Given the description of an element on the screen output the (x, y) to click on. 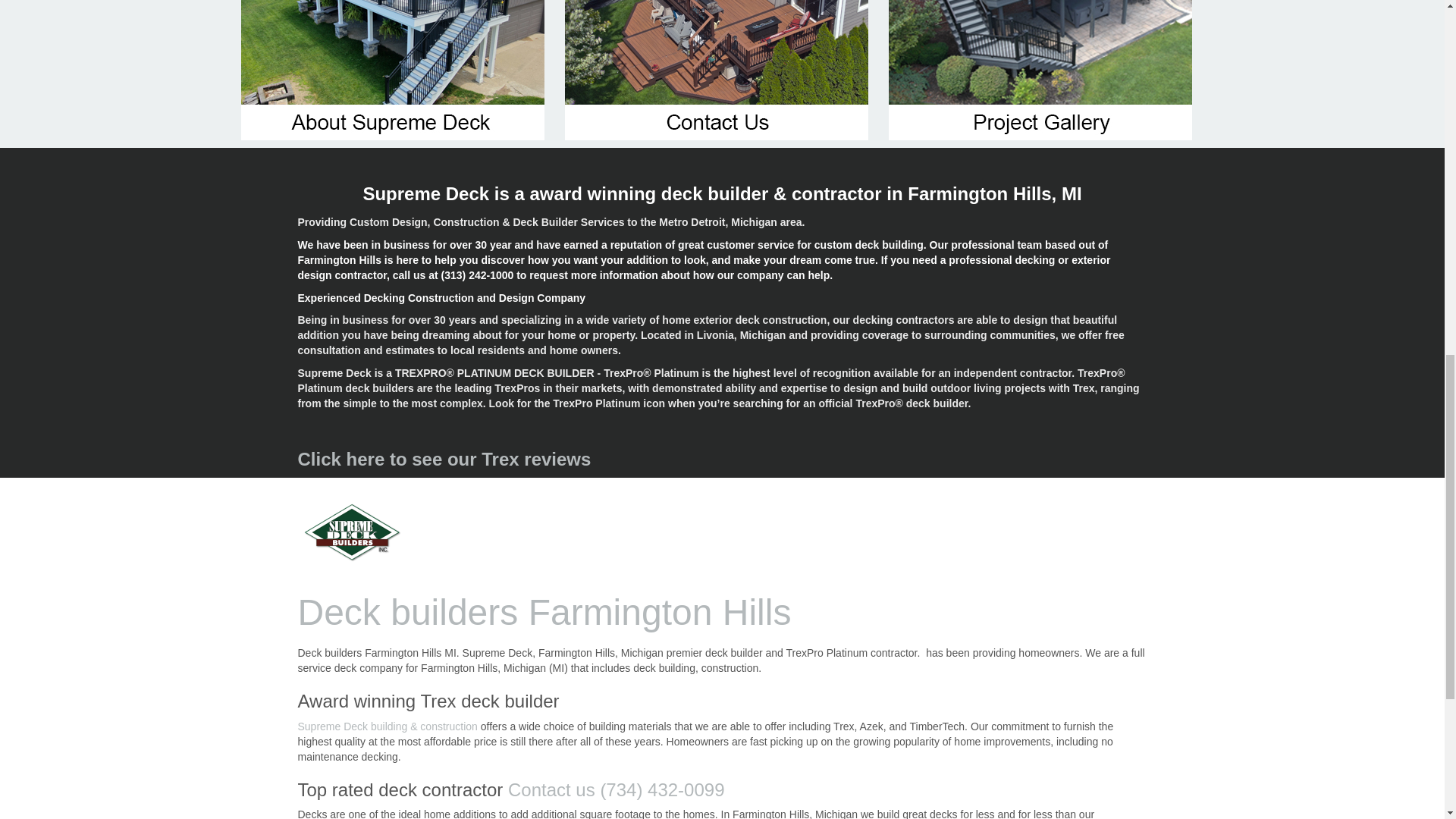
Deck builders Farmington Hills (351, 532)
Click here to see our Trex reviews (444, 458)
